Given the description of an element on the screen output the (x, y) to click on. 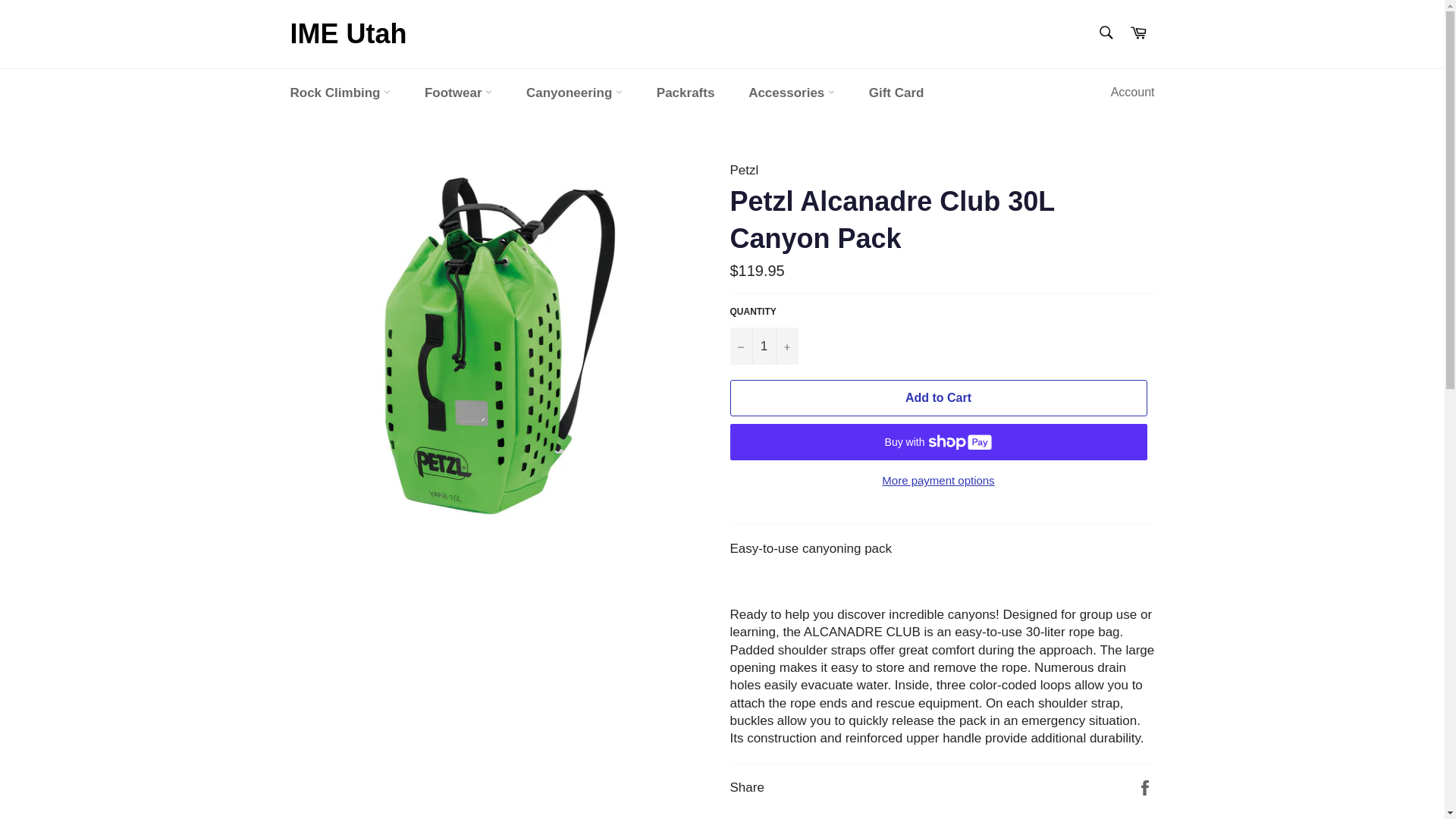
1 (763, 345)
Share on Facebook (1144, 787)
